Given the description of an element on the screen output the (x, y) to click on. 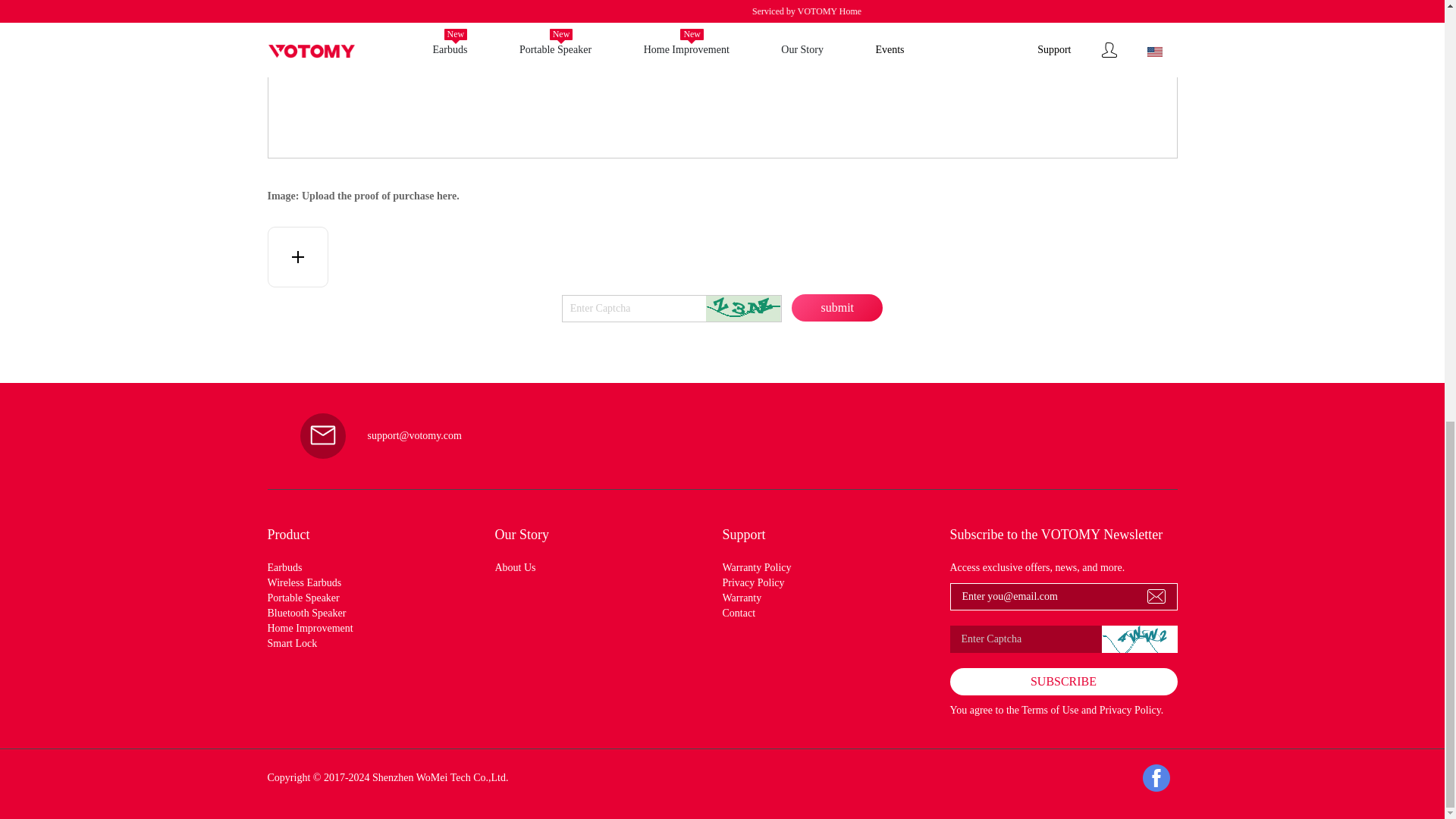
SUBSCRIBE (1062, 681)
